Given the description of an element on the screen output the (x, y) to click on. 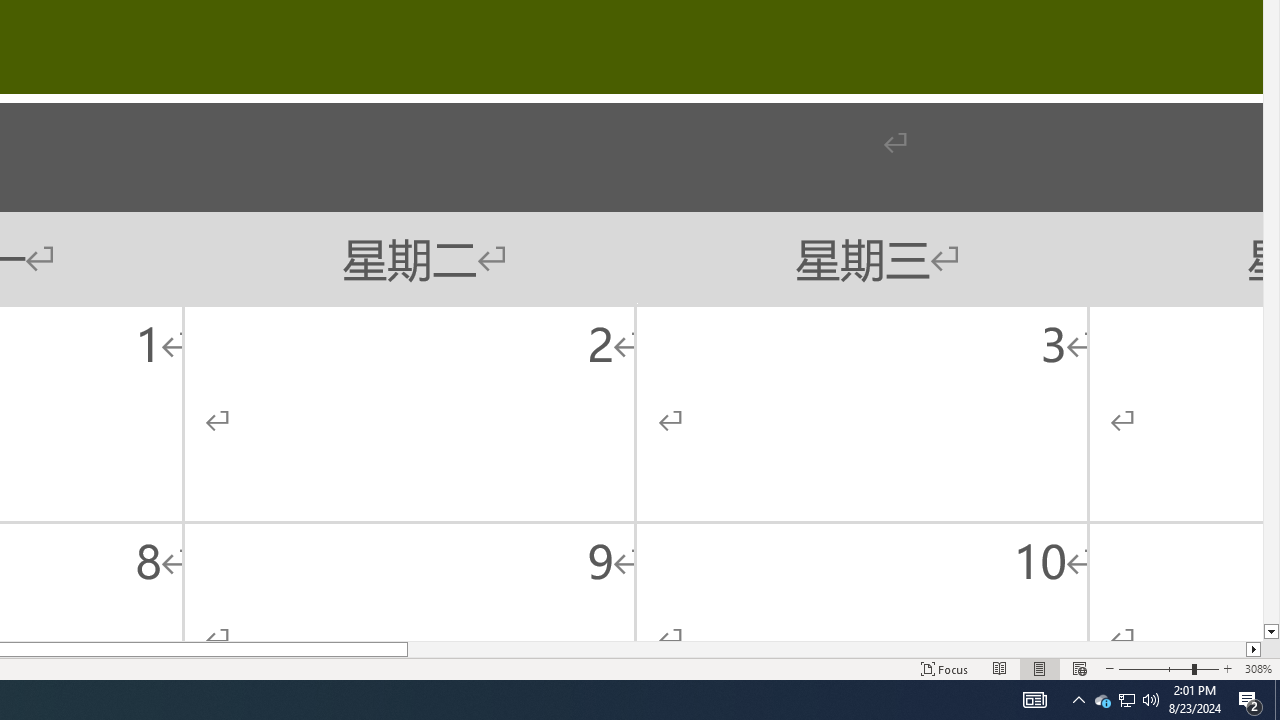
Page right (826, 649)
Column right (1254, 649)
Line down (1271, 632)
